Given the description of an element on the screen output the (x, y) to click on. 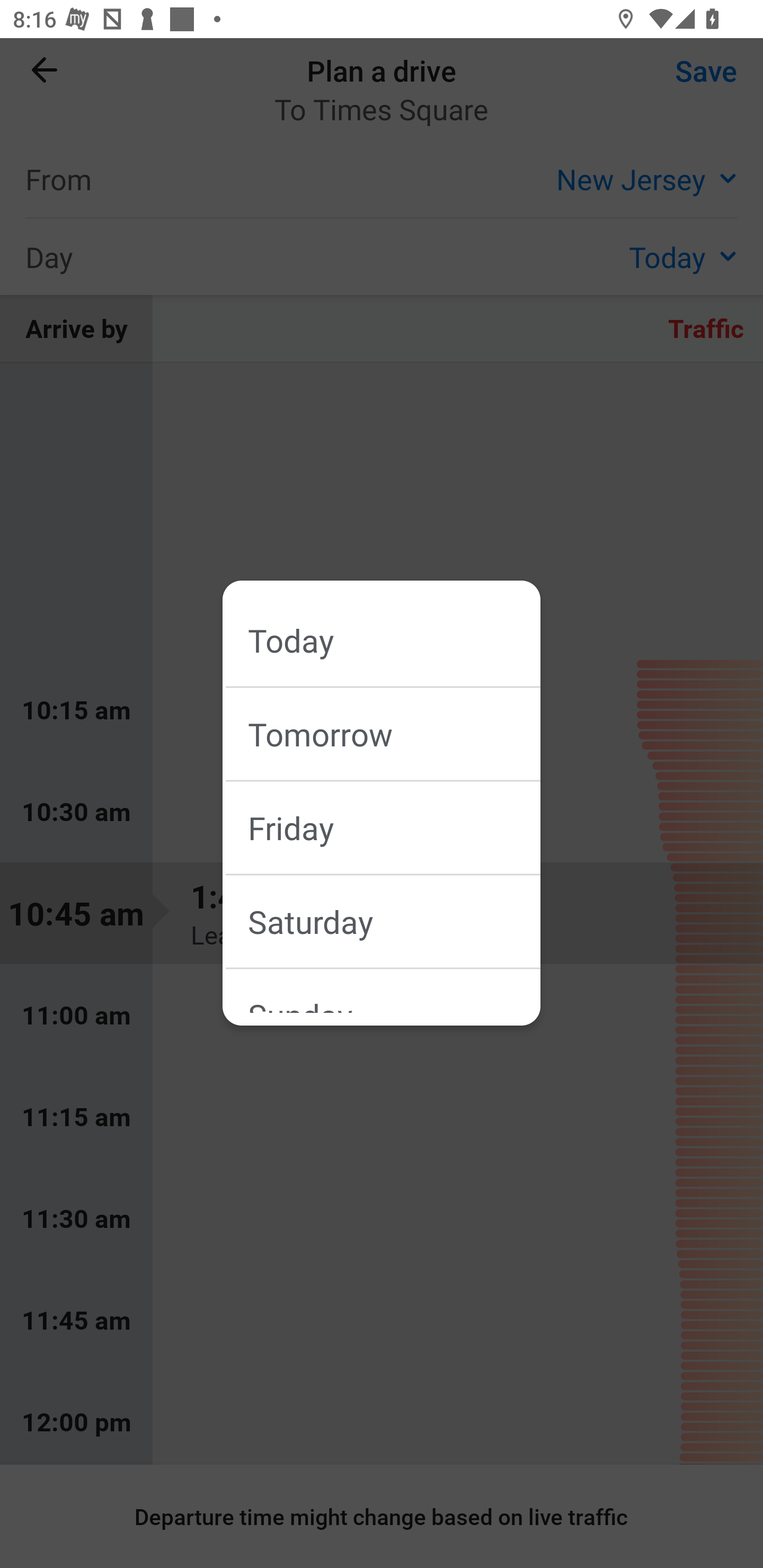
Today (393, 640)
Tomorrow (393, 733)
Friday (393, 827)
Saturday (393, 921)
